Given the description of an element on the screen output the (x, y) to click on. 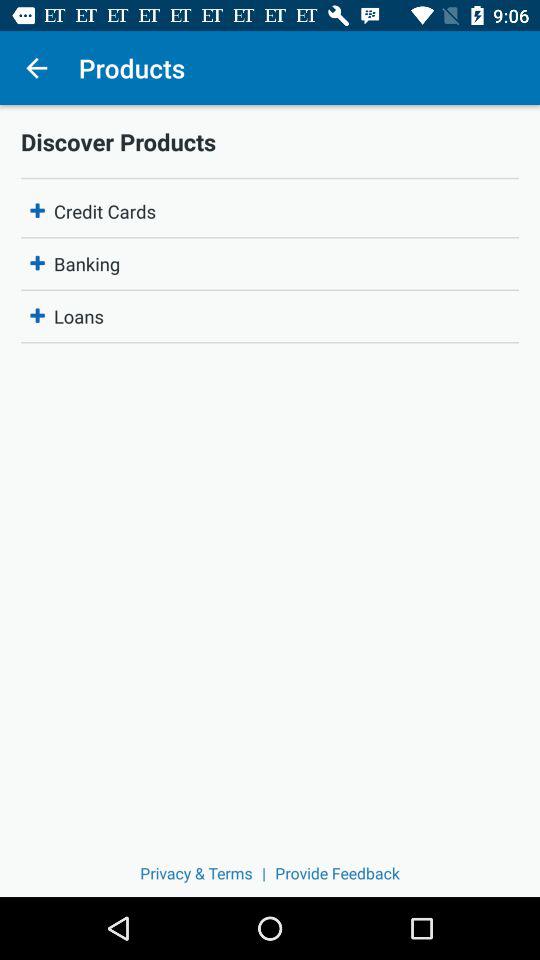
launch the icon above the discover products icon (36, 68)
